Given the description of an element on the screen output the (x, y) to click on. 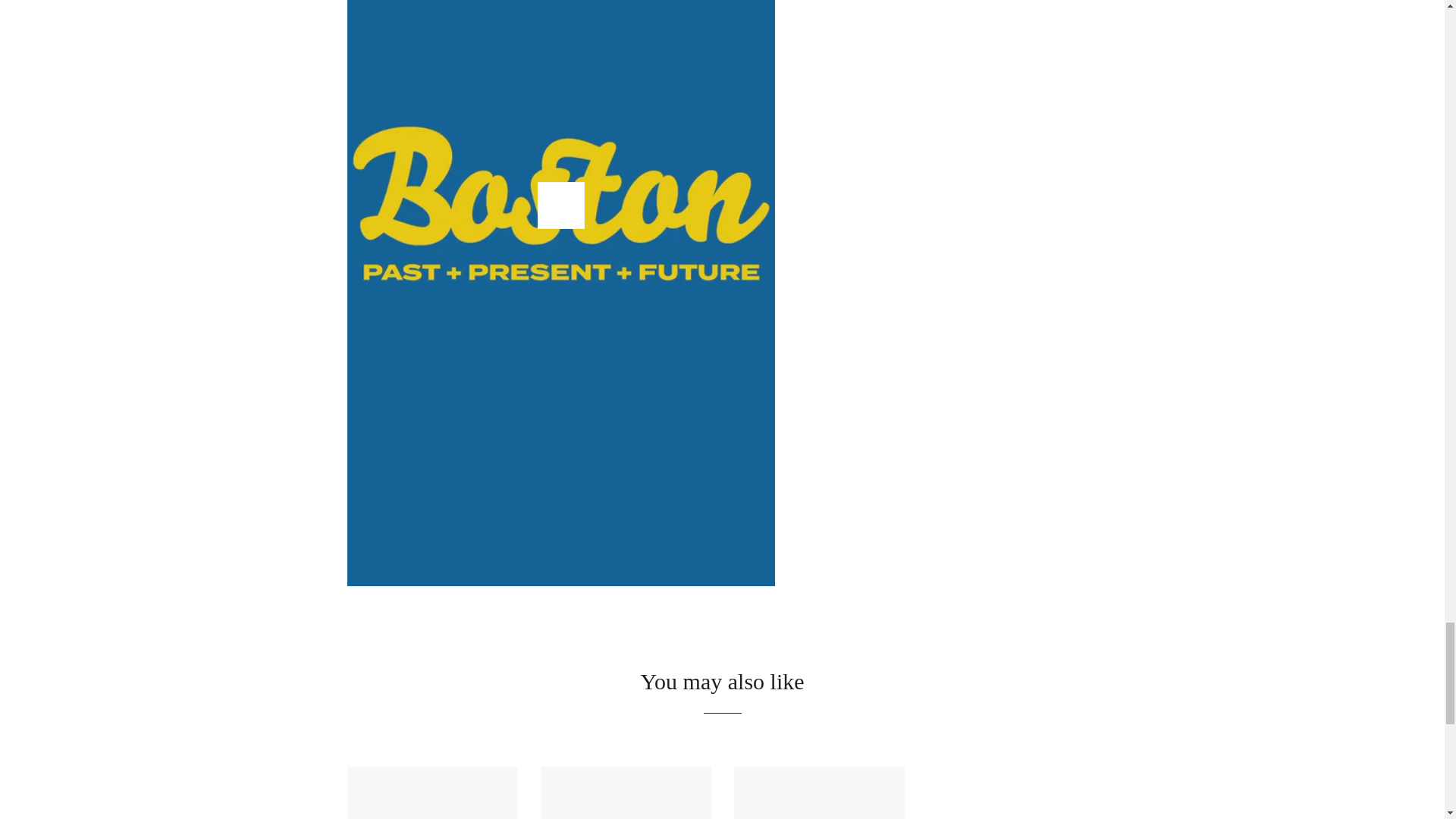
Play (561, 205)
